Given the description of an element on the screen output the (x, y) to click on. 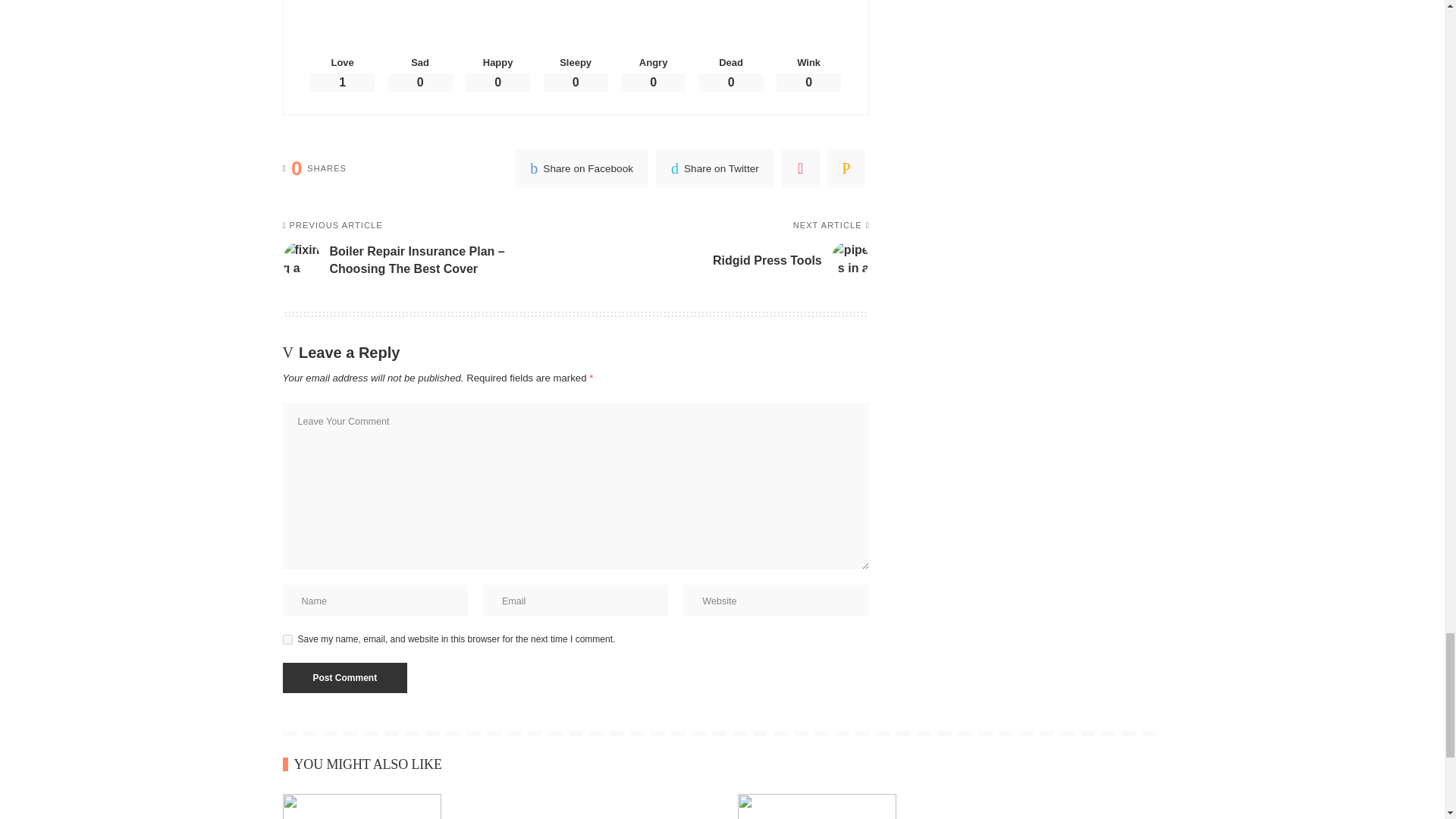
yes (287, 639)
Post Comment (344, 677)
